Given the description of an element on the screen output the (x, y) to click on. 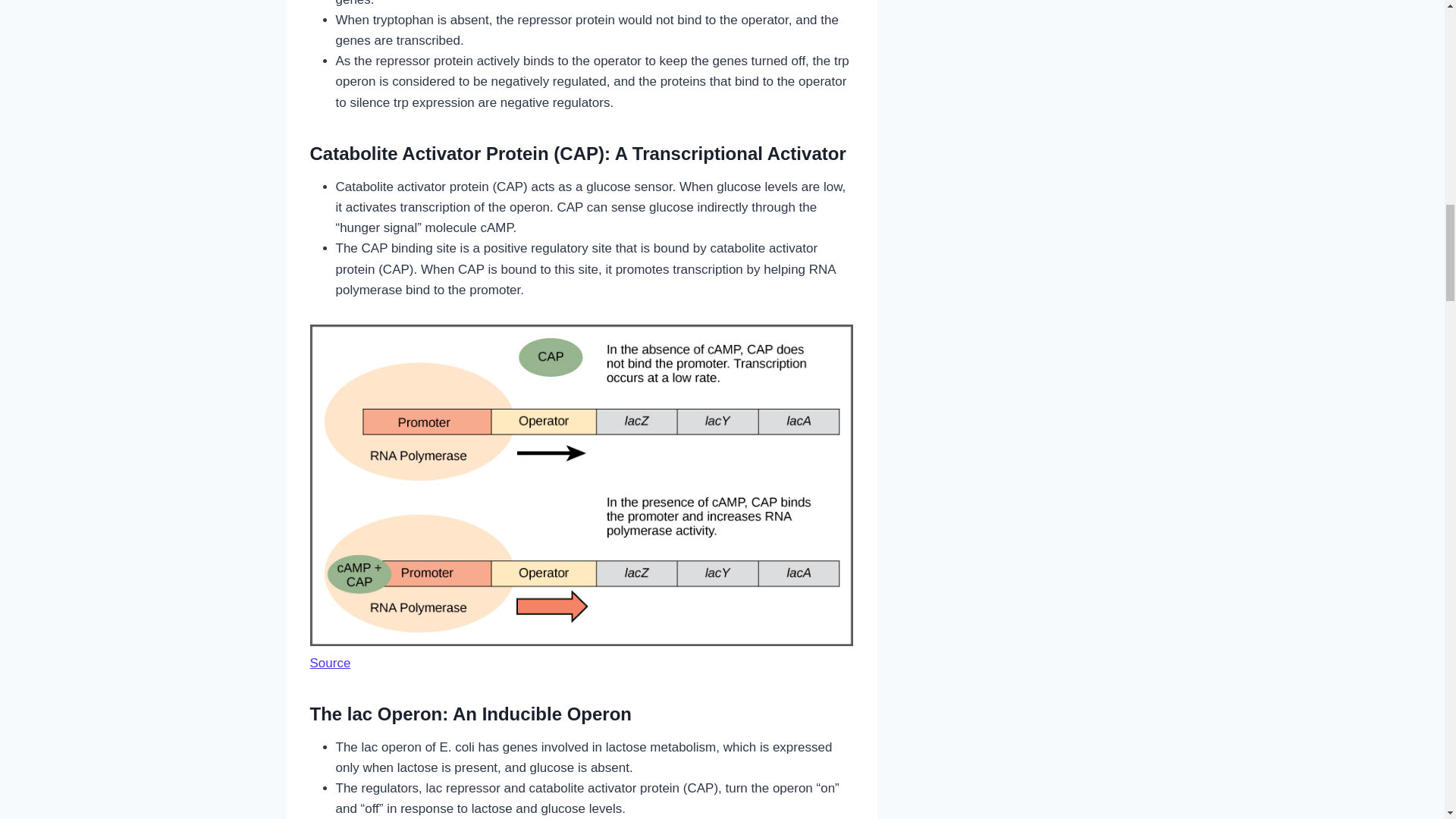
Source (329, 663)
